Given the description of an element on the screen output the (x, y) to click on. 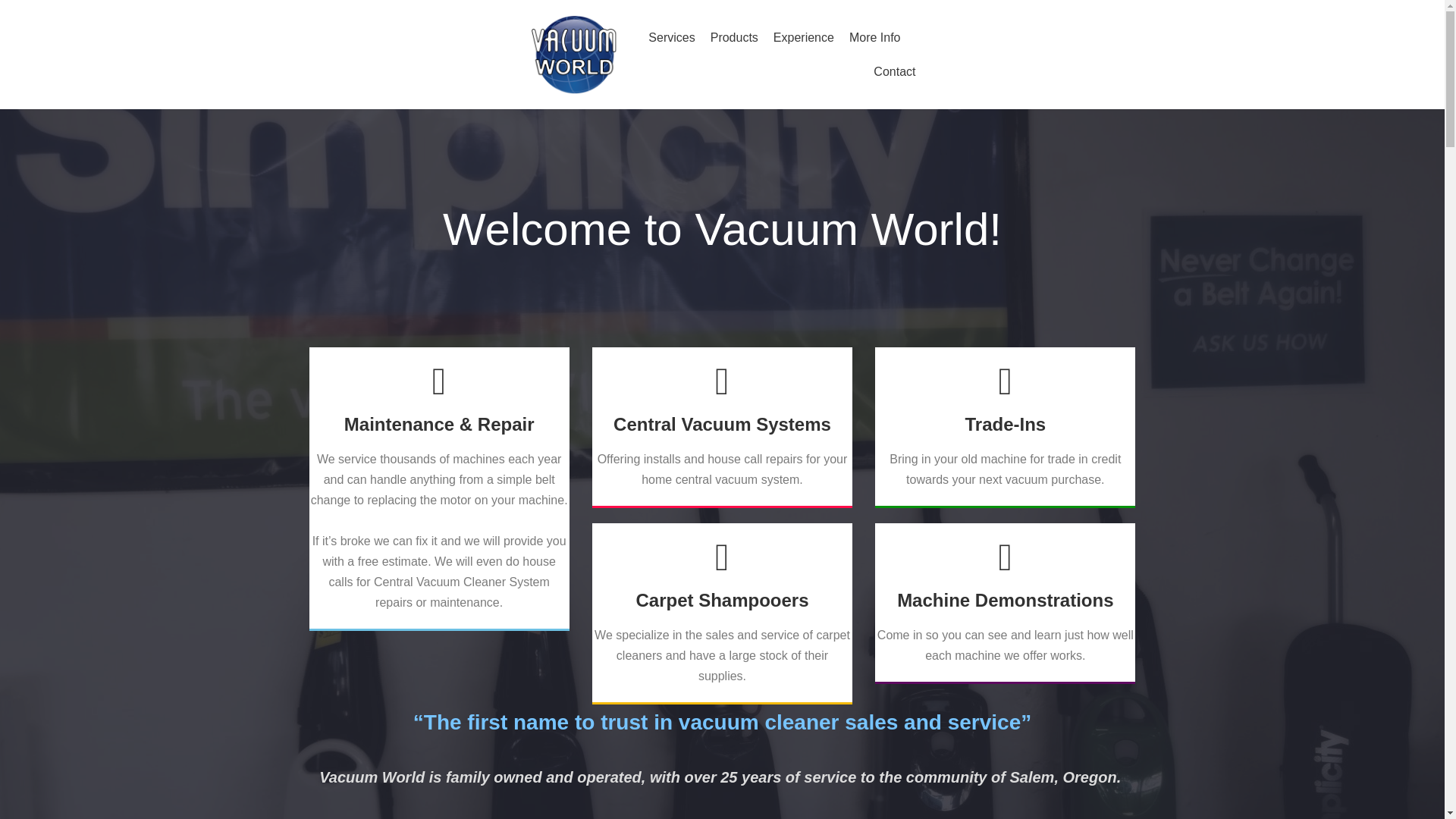
Experience (803, 37)
Vacuum World - Salem Oregon (574, 54)
Services (670, 37)
Products (734, 37)
Contact (894, 71)
More Info (874, 37)
Skip to content (15, 7)
